Given the description of an element on the screen output the (x, y) to click on. 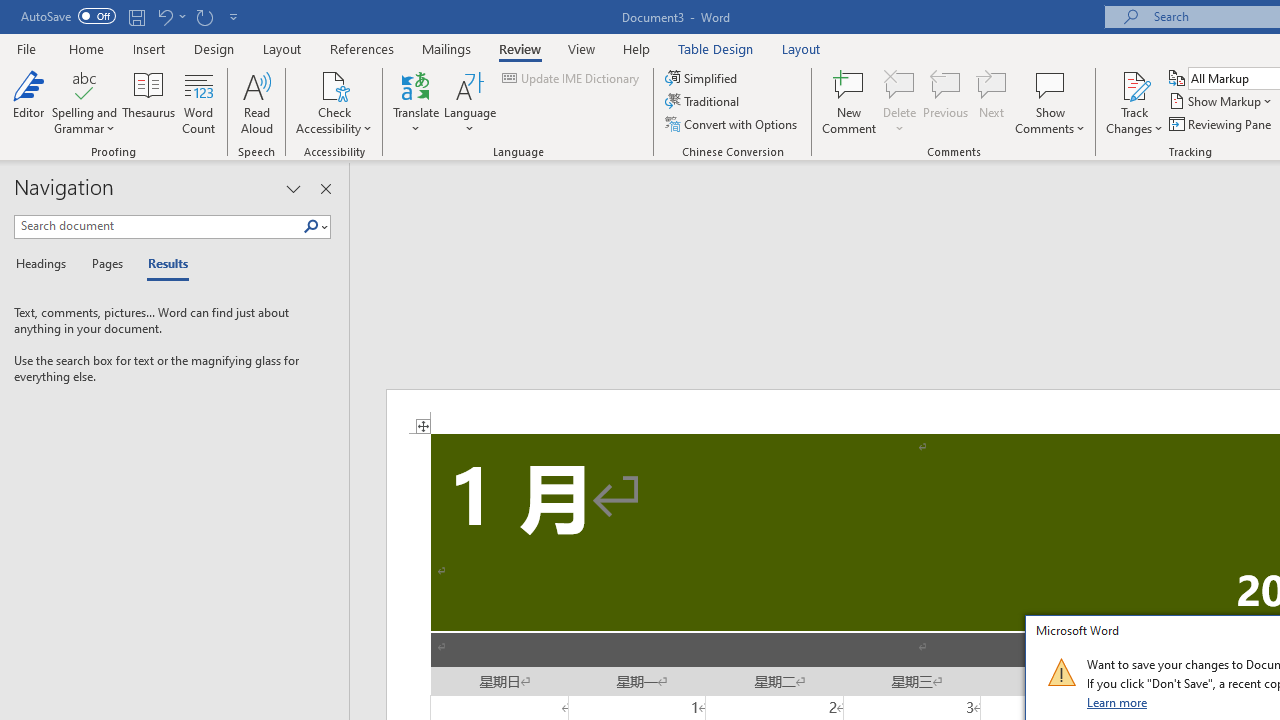
Track Changes (1134, 102)
Traditional (703, 101)
Language (470, 102)
Convert with Options... (732, 124)
Undo Apply Quick Style (164, 15)
Check Accessibility (334, 102)
Spelling and Grammar (84, 84)
